Given the description of an element on the screen output the (x, y) to click on. 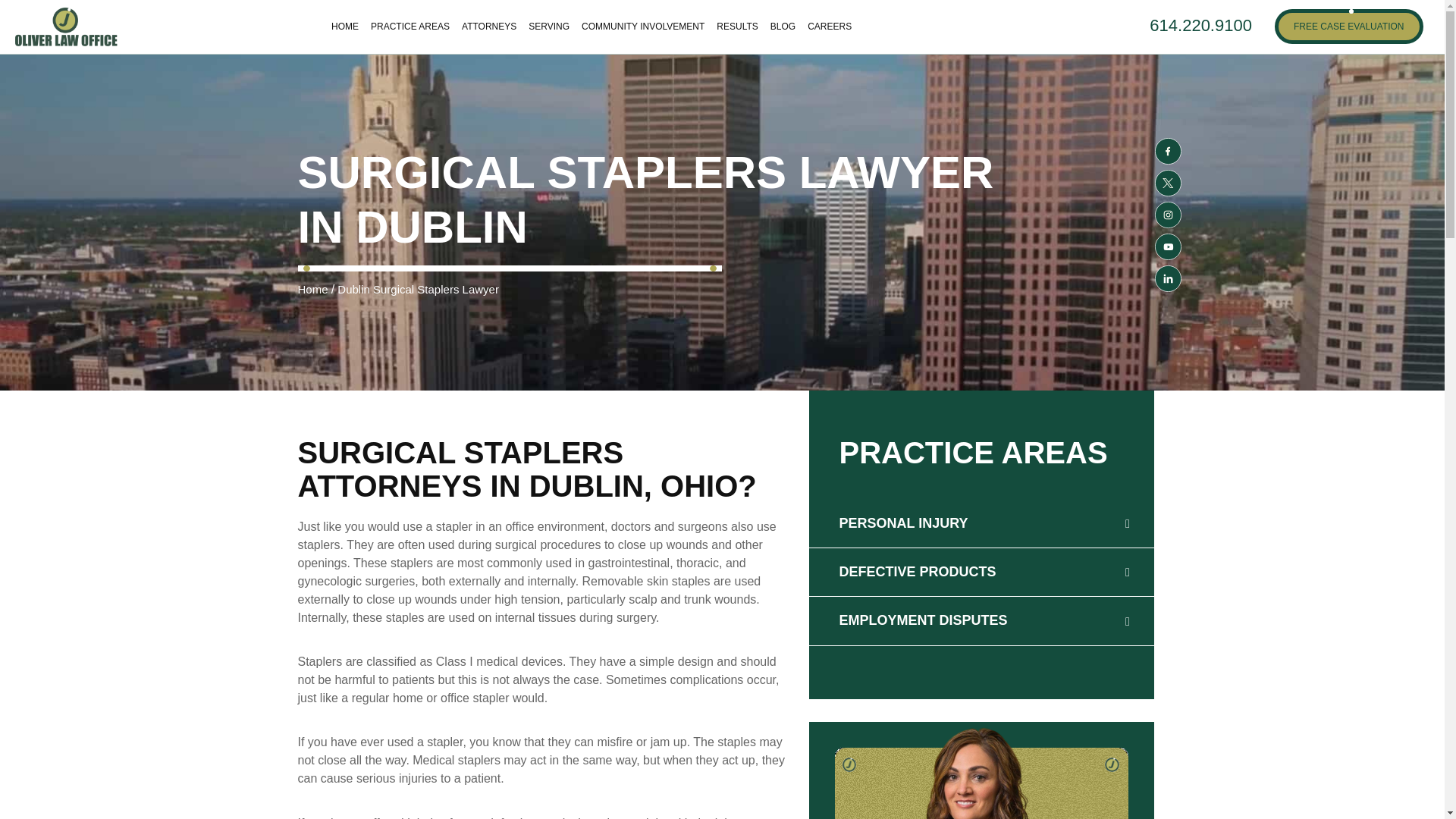
Home (312, 288)
image 10 - Oliver Law Office - Oliver Law Office (980, 771)
image 10 - Oliver Law Office - Oliver Law Office (1112, 764)
image 10 - Oliver Law Office - Oliver Law Office (848, 764)
Group 2343 - Oliver Law Office - Oliver Law Office (509, 268)
HOME (344, 26)
PRACTICE AREAS (410, 26)
logo - Oliver Law Office (65, 26)
